Given the description of an element on the screen output the (x, y) to click on. 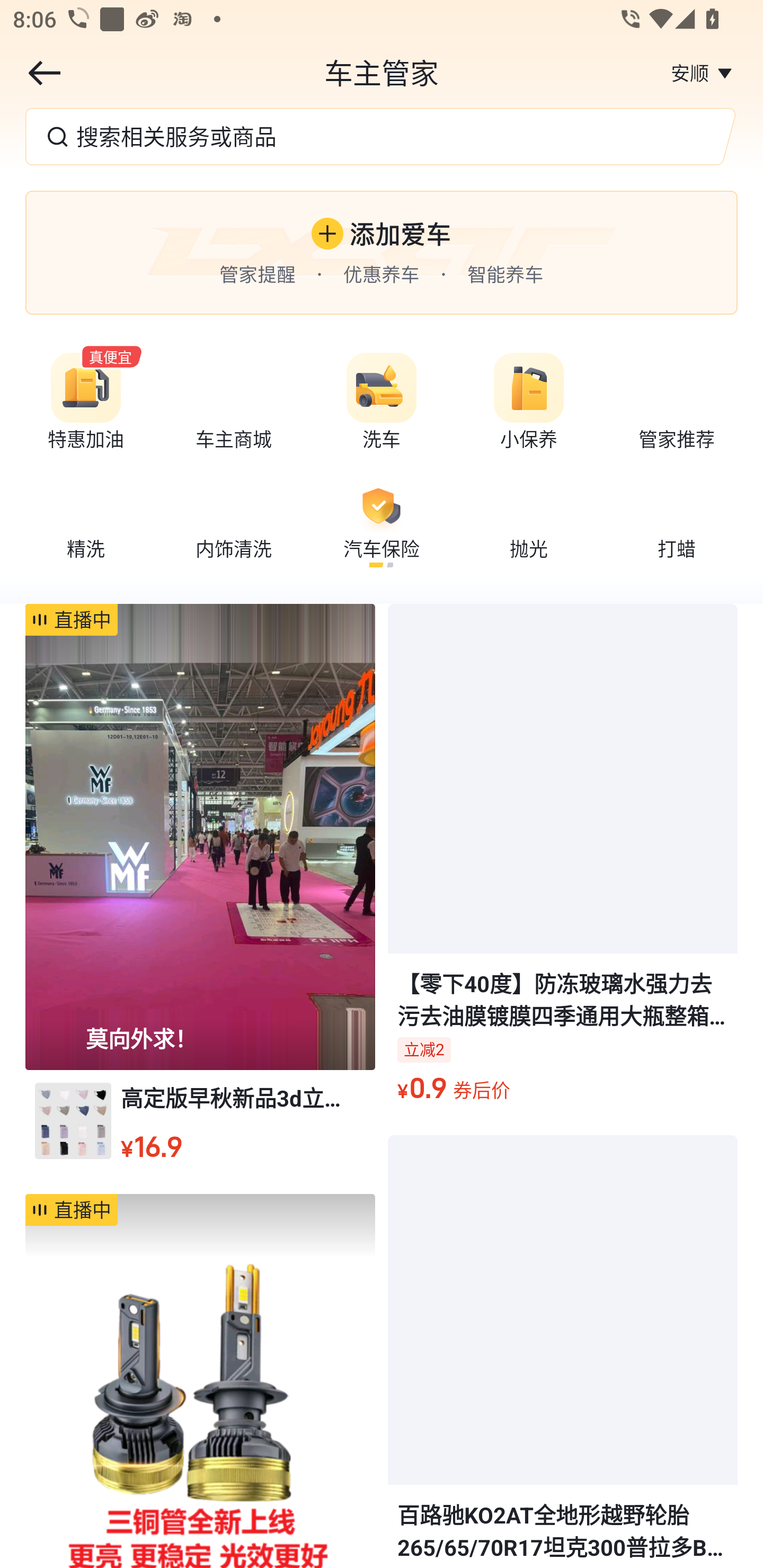
 (44, 72)
安顺 (689, 72)
 (724, 73)
 搜索相关服务或商品 (381, 136)
真便宜 特惠加油 (86, 405)
车主商城 (233, 405)
洗车 (381, 405)
小保养 (528, 405)
管家推荐 (676, 405)
精洗 (86, 524)
内饰清洗 (233, 524)
汽车保险 (381, 524)
抛光 (528, 524)
打蜡 (676, 524)
直播中 莫向外求！ 高定版早秋新品3d立体舒适透气高颜值时尚口罩纯色简约 ¥ 16.9 (200, 898)
【零下40度】防冻玻璃水强力去污去油膜镀膜四季通用大瓶整箱雨刮水 立减2 ¥ 0.9 券后价 (562, 862)
百路驰KO2AT全地形越野轮胎265/65/70R17坦克300普拉多BJ40哈弗H9 (562, 1351)
